Given the description of an element on the screen output the (x, y) to click on. 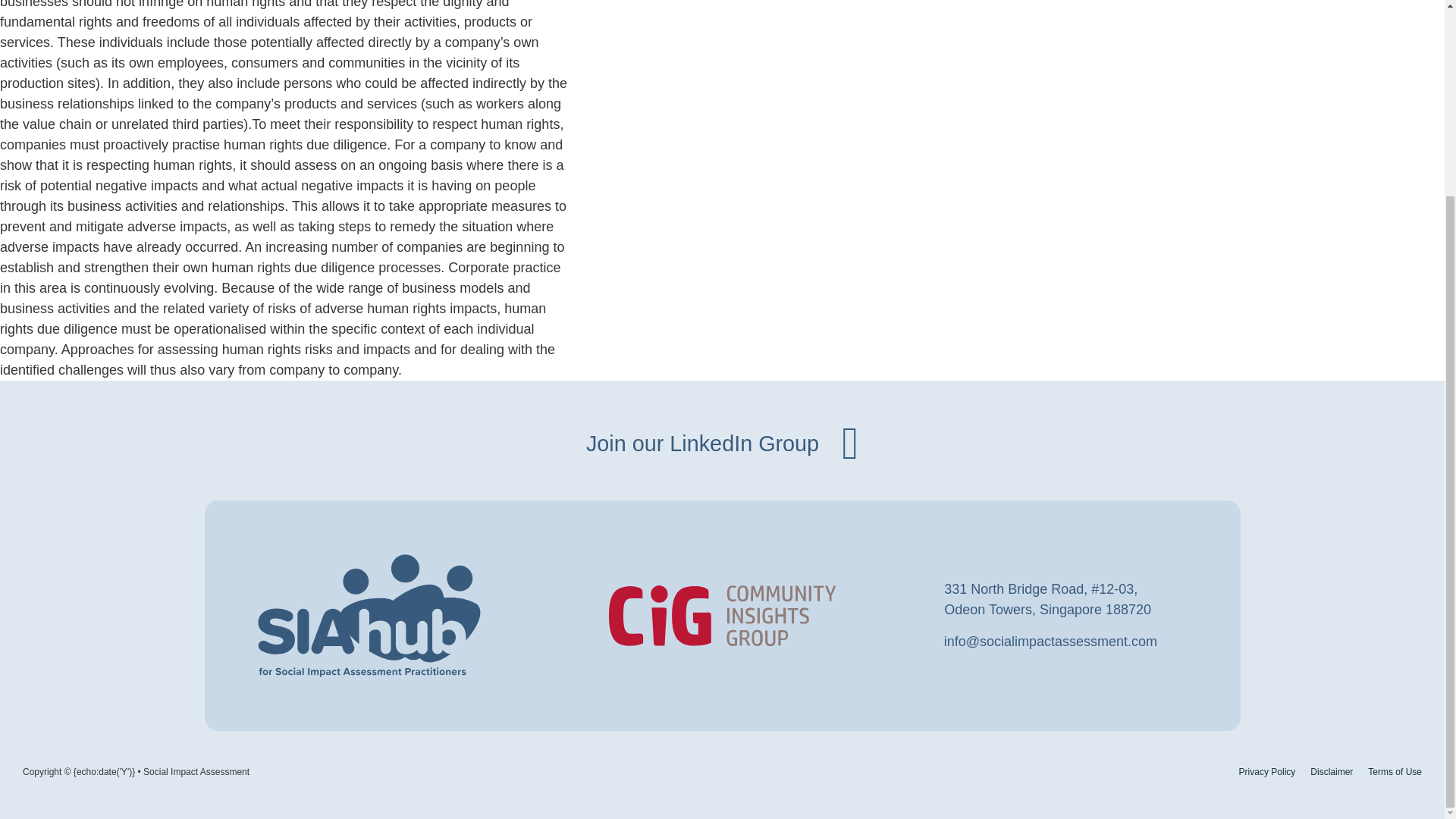
Privacy Policy (722, 443)
Disclaimer (1267, 771)
Terms of Use (1331, 771)
